Given the description of an element on the screen output the (x, y) to click on. 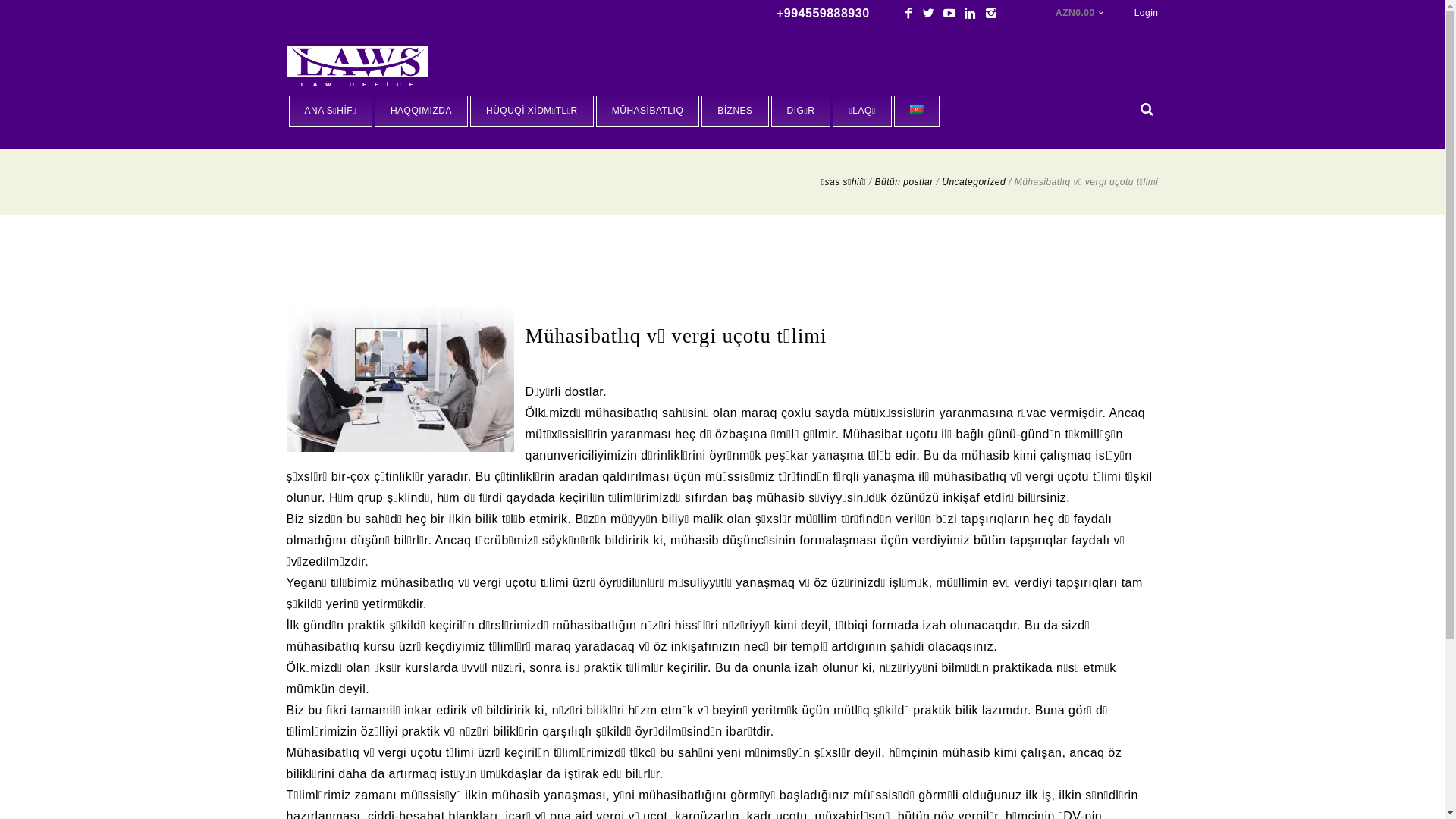
Open/close search form Element type: hover (1146, 108)
BIZNES Element type: text (734, 110)
+994559888930 Element type: text (790, 13)
LAW OFFICE Element type: text (361, 69)
Login Element type: text (1146, 13)
Cart AZN0.00 Element type: text (1064, 13)
HAQQIMIZDA Element type: text (420, 110)
Uncategorized Element type: text (973, 181)
